Given the description of an element on the screen output the (x, y) to click on. 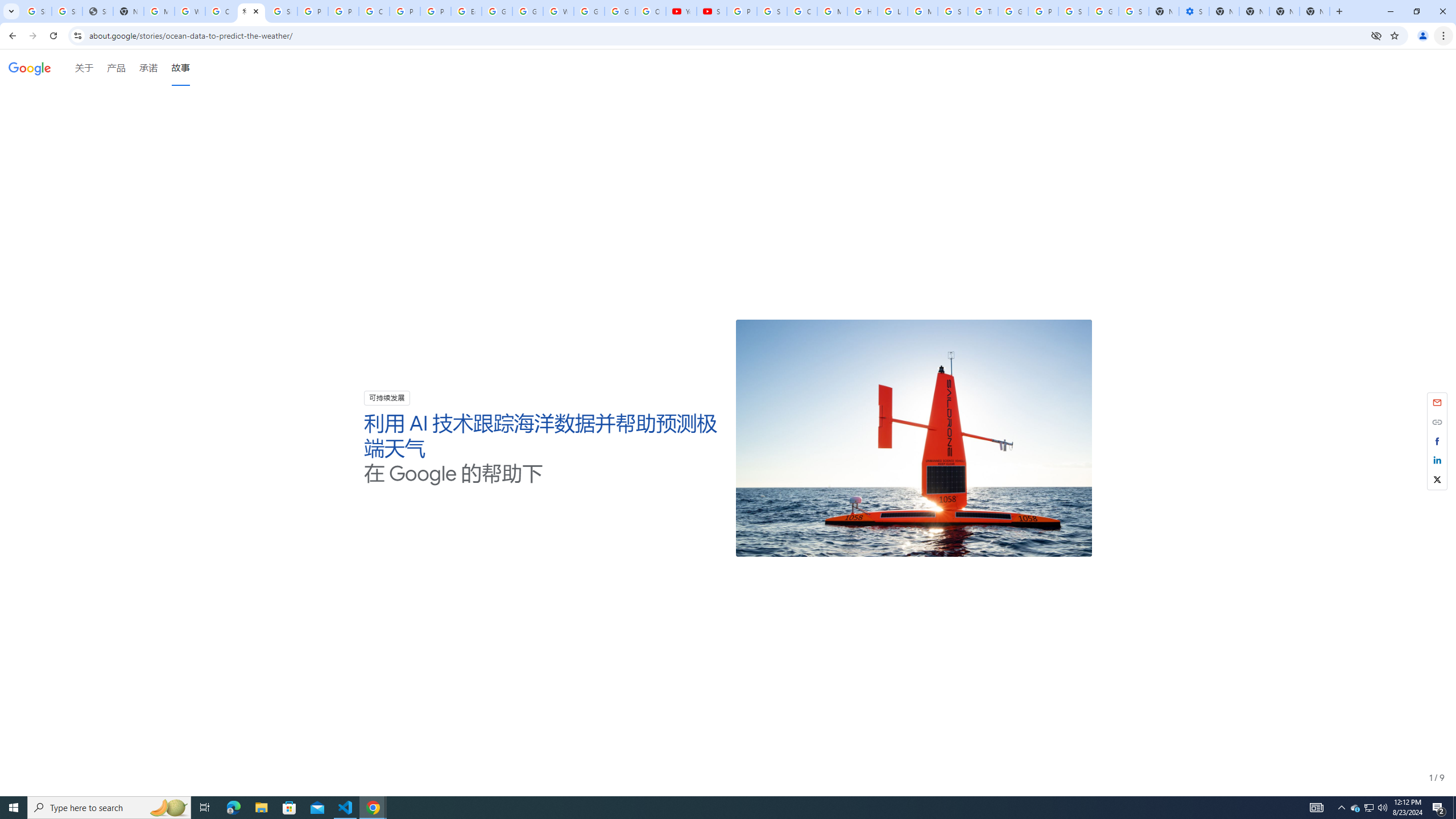
Settings - Performance (1193, 11)
Subscriptions - YouTube (711, 11)
Sign in - Google Accounts (282, 11)
Google Ads - Sign in (1012, 11)
Sign in - Google Accounts (66, 11)
